Given the description of an element on the screen output the (x, y) to click on. 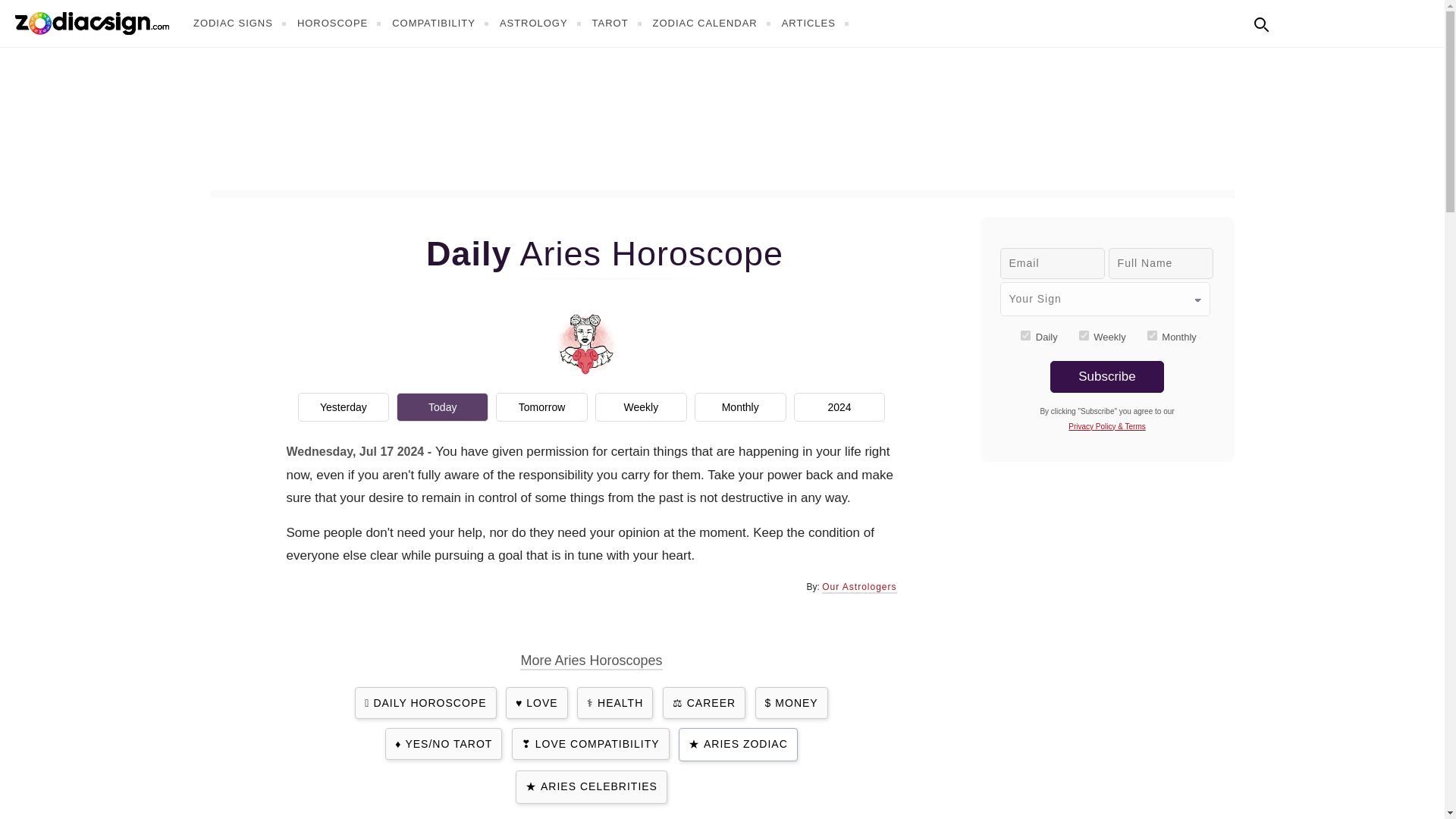
HOROSCOPE (341, 23)
weekly (1083, 335)
ZODIAC SIGNS (241, 23)
monthly (1152, 335)
daily (1025, 335)
In English (1294, 21)
